Given the description of an element on the screen output the (x, y) to click on. 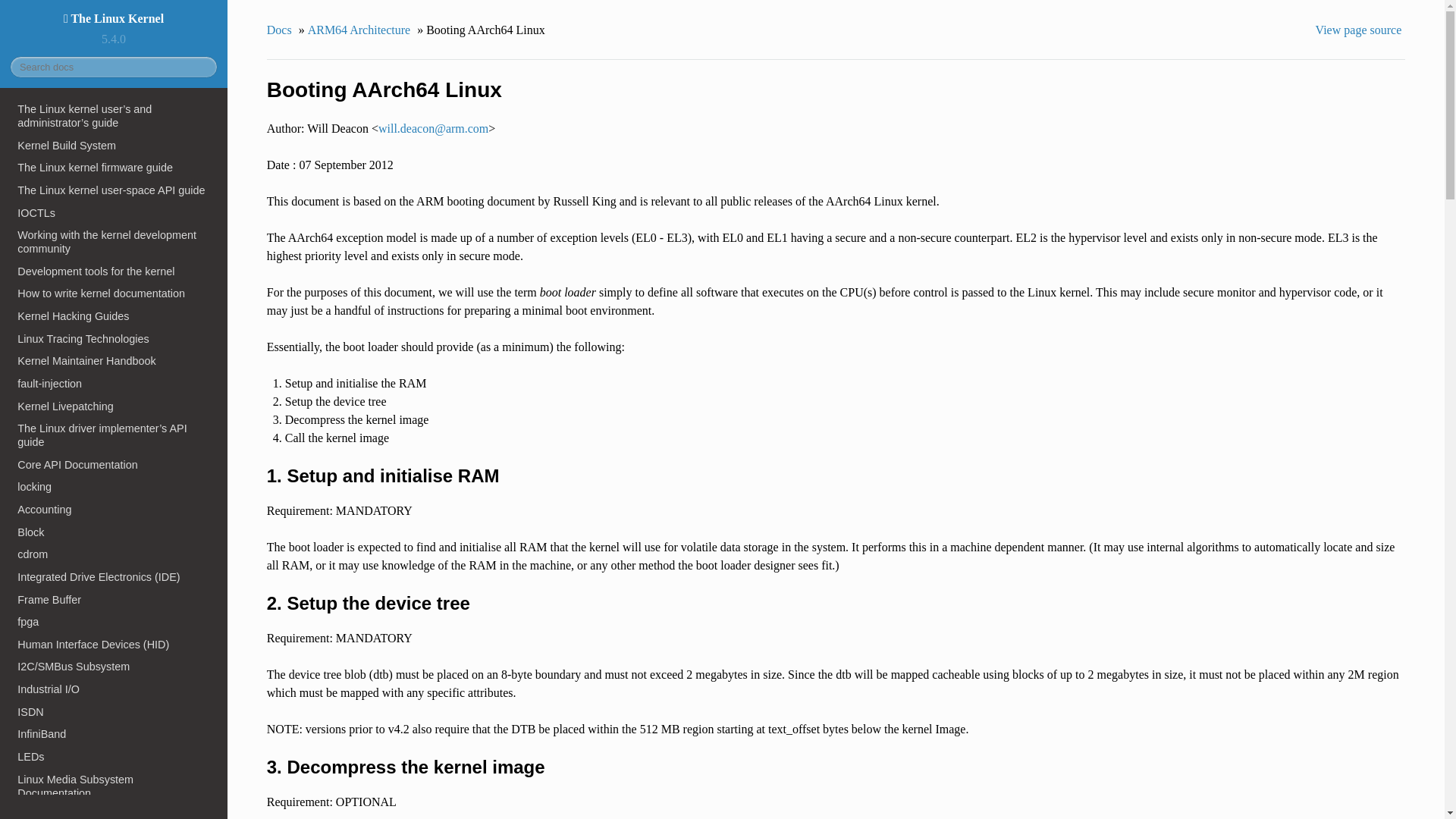
Linux Media Subsystem Documentation (113, 786)
Block (113, 531)
Frame Buffer (113, 599)
Kernel Build System (113, 145)
Kernel Maintainer Handbook (113, 360)
Kernel Livepatching (113, 405)
fpga (113, 621)
Linux Tracing Technologies (113, 338)
The Linux kernel firmware guide (113, 167)
How to write kernel documentation (113, 293)
InfiniBand (113, 733)
Development tools for the kernel (113, 271)
Kernel Hacking Guides (113, 315)
ISDN (113, 712)
Working with the kernel development community (113, 241)
